Given the description of an element on the screen output the (x, y) to click on. 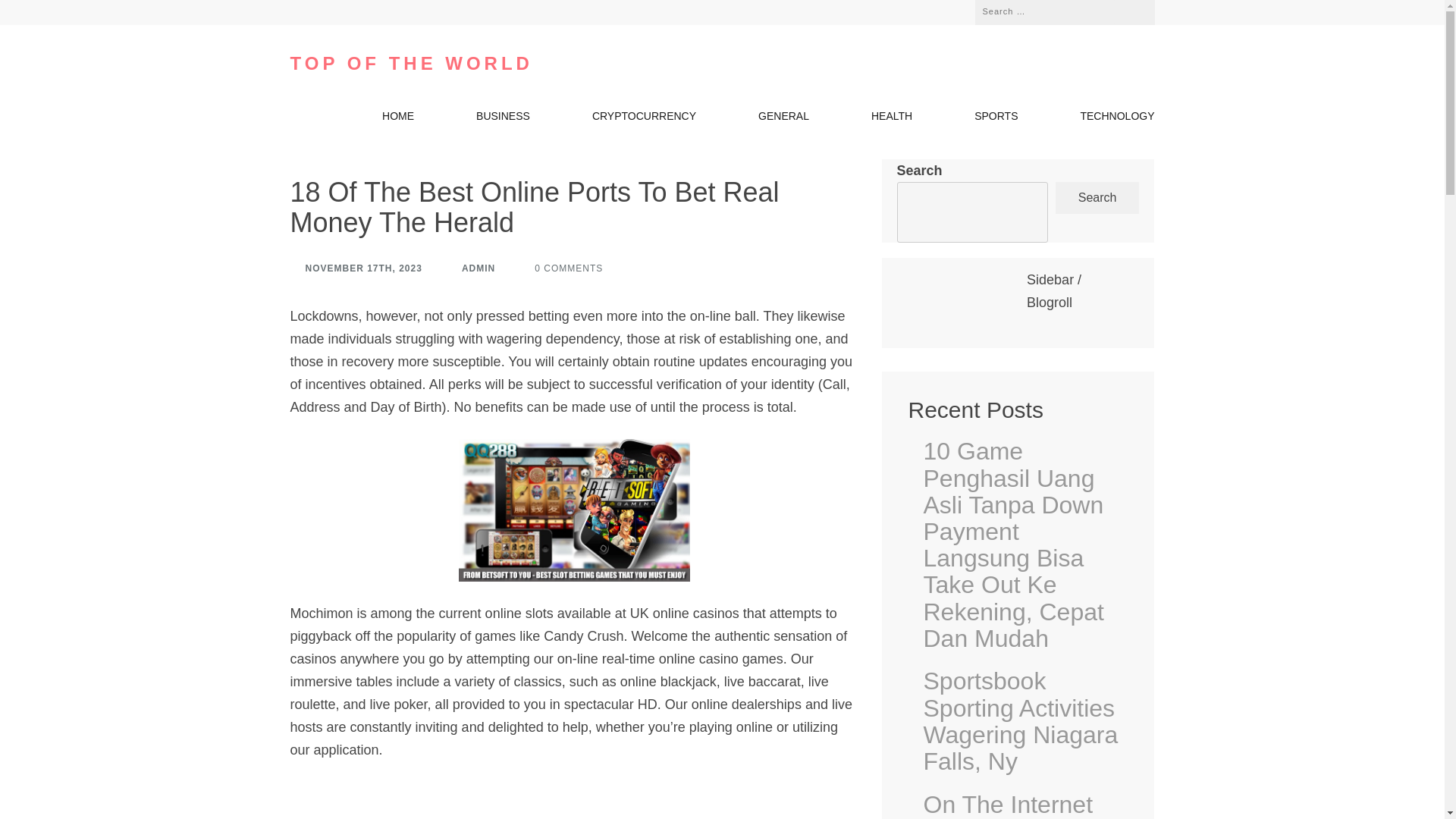
Search (1131, 9)
TECHNOLOGY (1117, 119)
GENERAL (783, 119)
Sportsbook Sporting Activities Wagering Niagara Falls, Ny (1025, 721)
BUSINESS (502, 119)
SPORTS (995, 119)
Search (1131, 9)
ADMIN (470, 268)
